Given the description of an element on the screen output the (x, y) to click on. 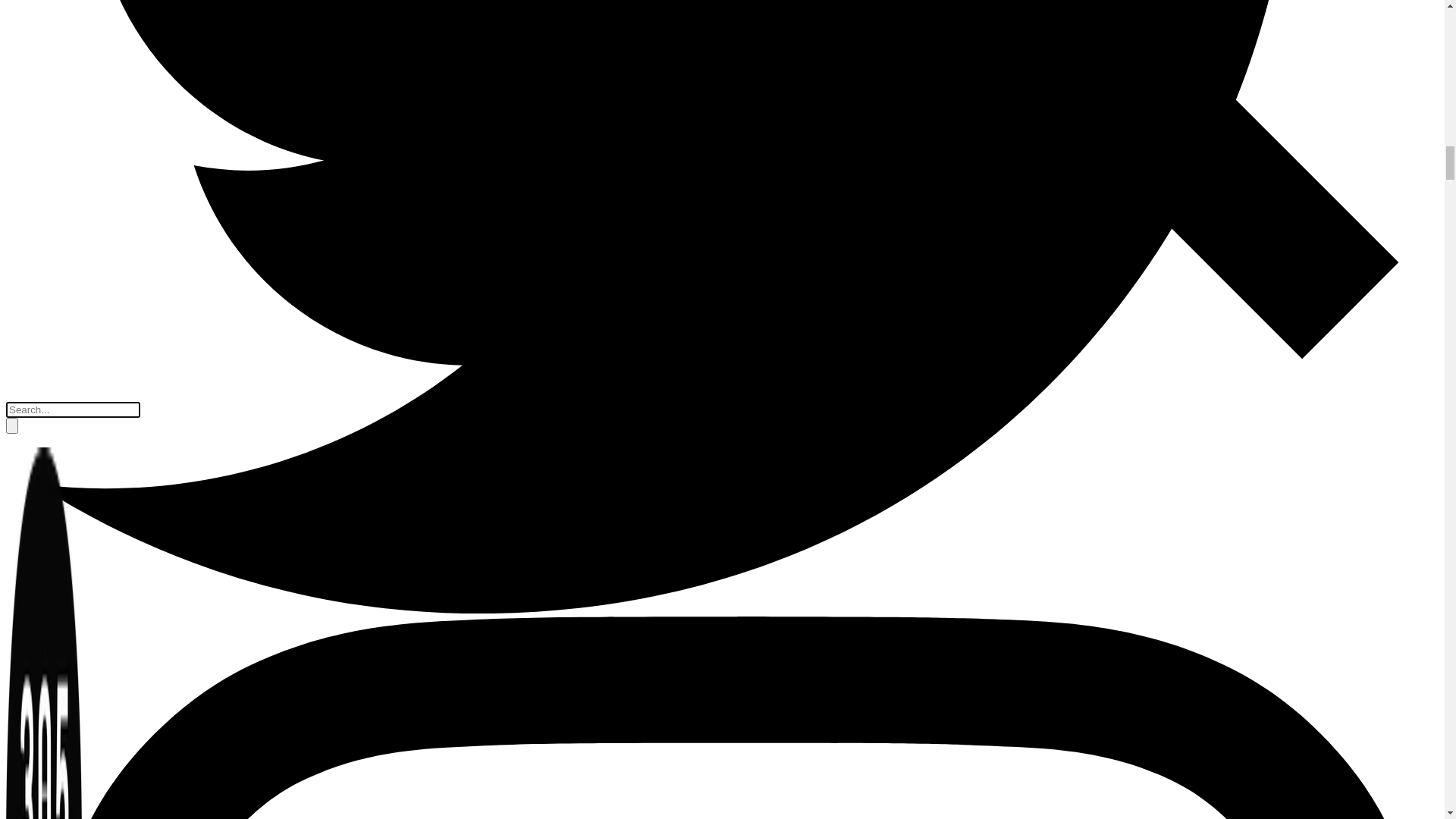
ABOUT US Element type: text (722, 87)
Account Element type: text (56, 159)
Skip to content Element type: text (42, 12)
305-LIFE AMBASSADORS Element type: text (722, 123)
SHOP PRODUCTS Element type: text (722, 52)
